Given the description of an element on the screen output the (x, y) to click on. 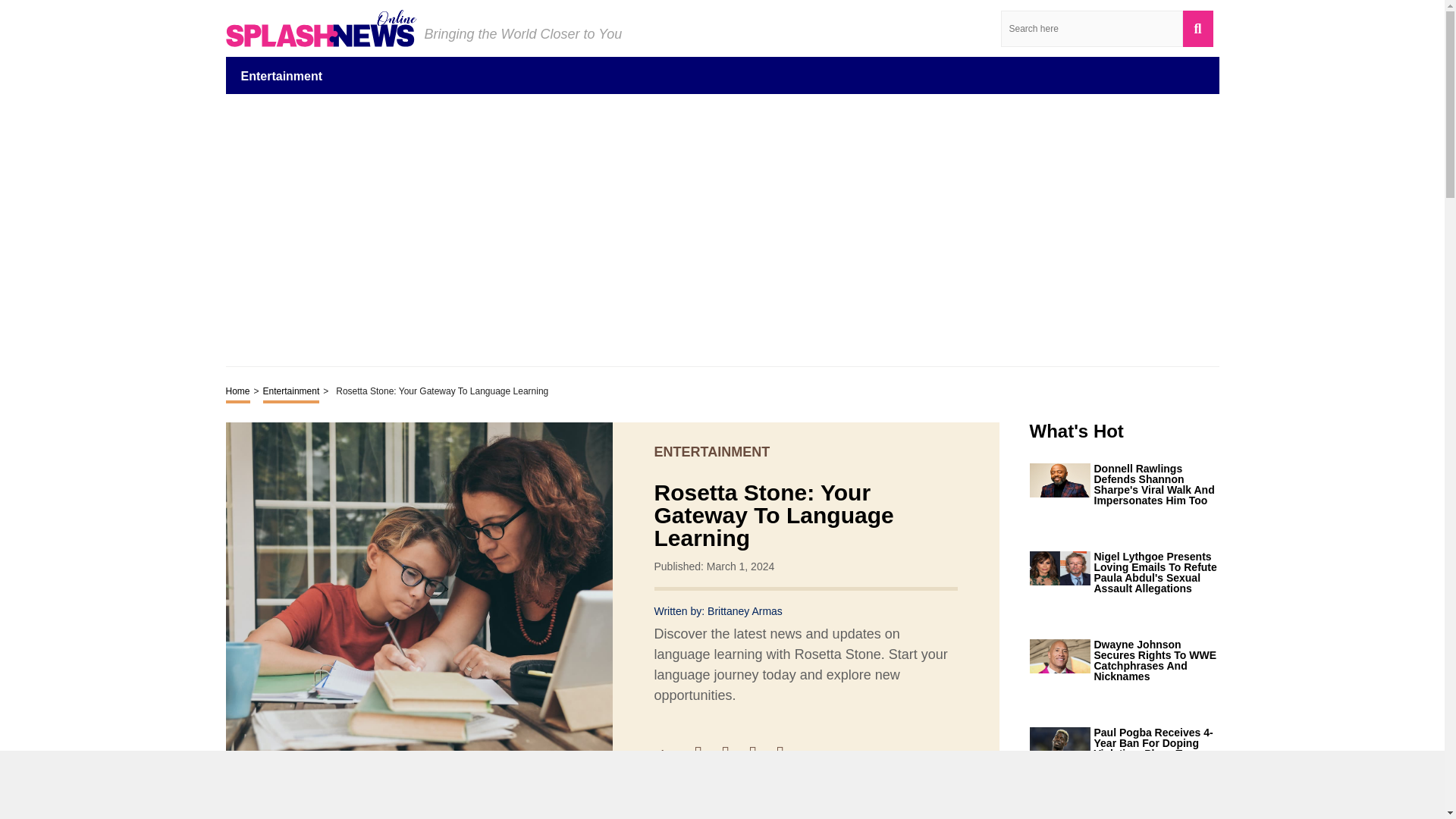
Kelly Osbourne's Baby Daddy Drama: The Name Game (1155, 816)
Share on Twitter (732, 753)
Share on WhatsApp (786, 753)
Home (237, 392)
Advertisement (721, 229)
Brittaney Armas (745, 611)
Entertainment (282, 74)
Share on Pinterest (759, 753)
Share on Facebook (705, 753)
Entertainment (291, 392)
